Given the description of an element on the screen output the (x, y) to click on. 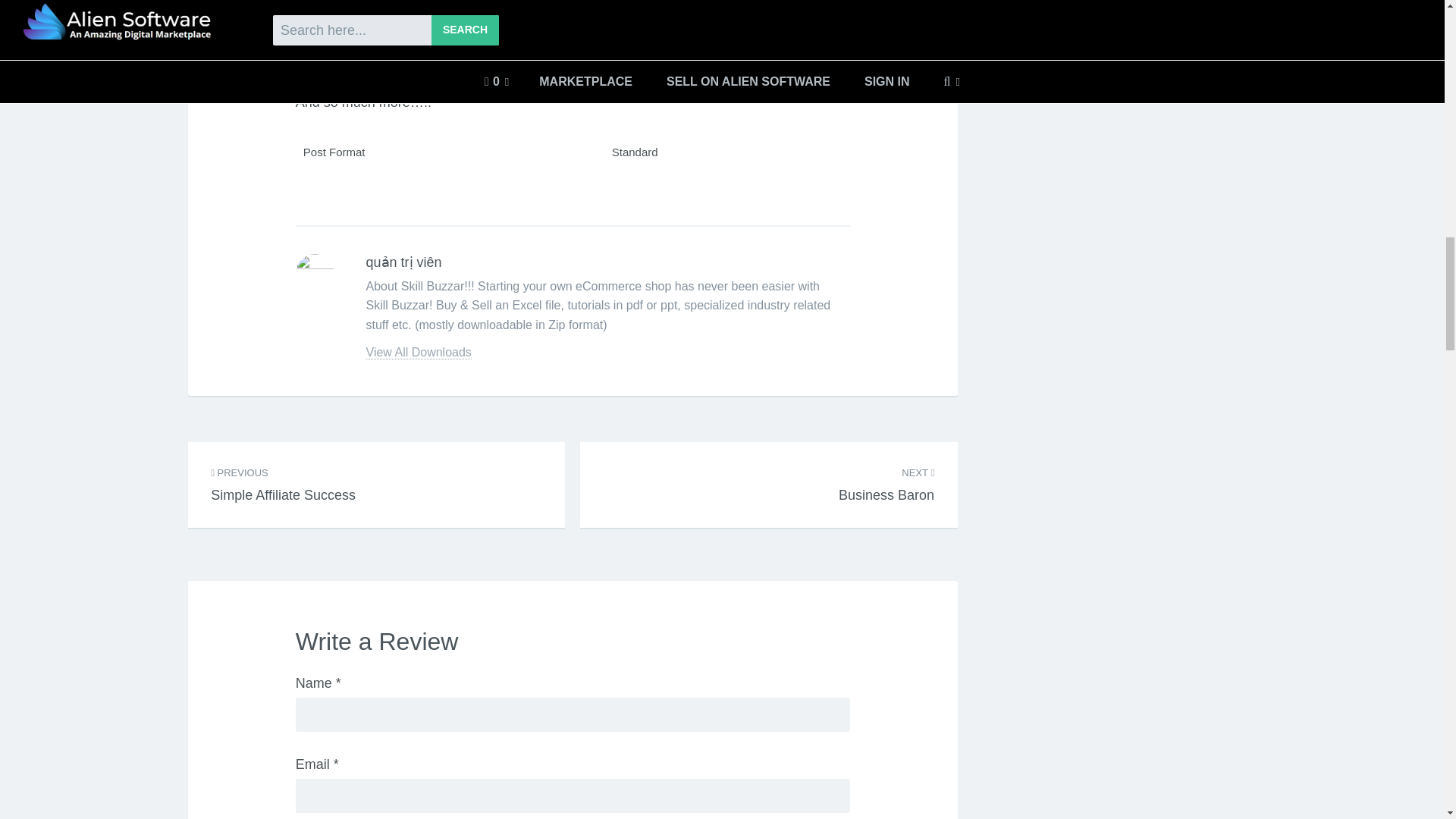
View All Downloads (283, 476)
